Given the description of an element on the screen output the (x, y) to click on. 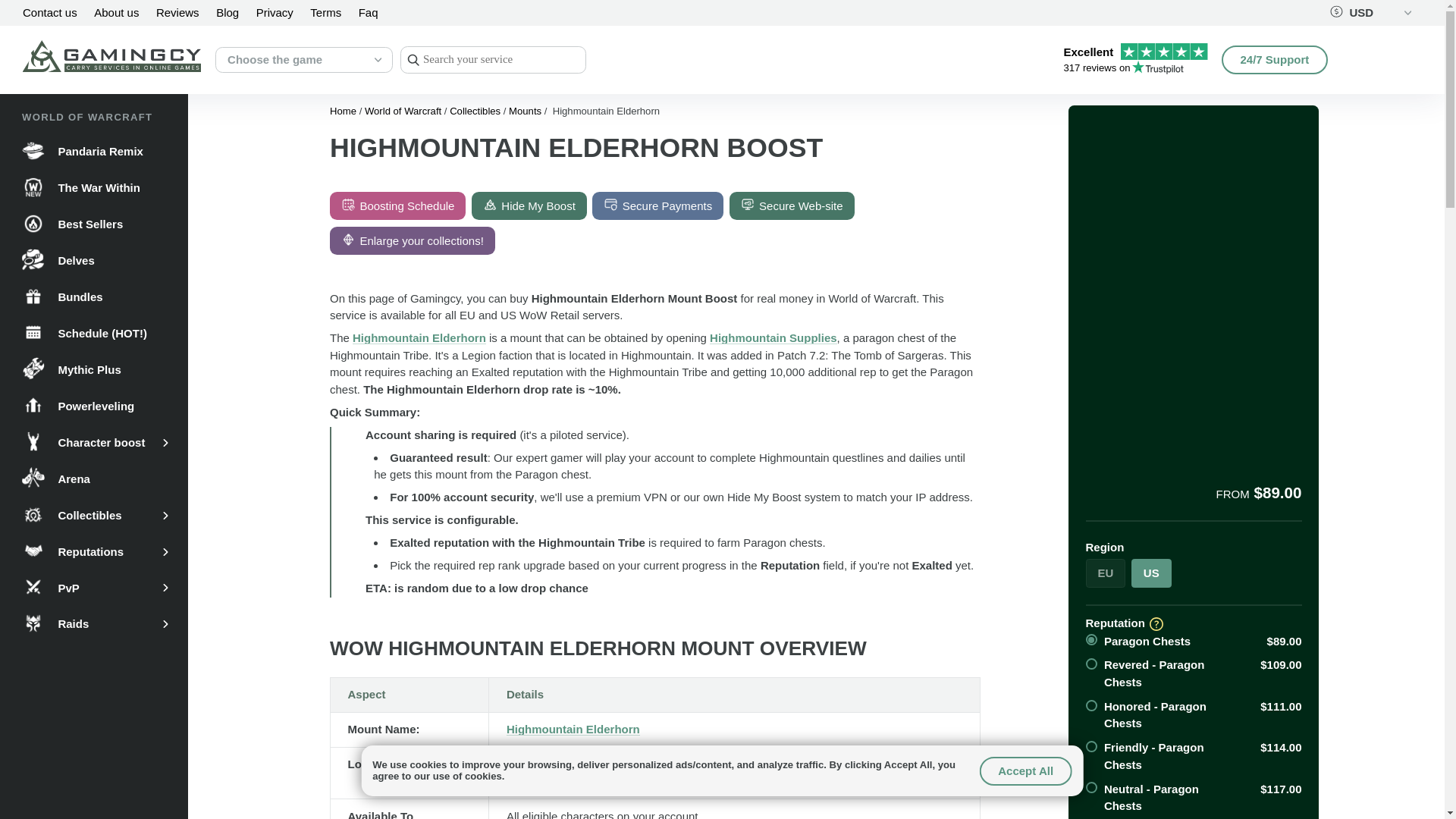
 Collectibles  (474, 111)
Highmountain Supplies (773, 337)
Faq (368, 11)
About us (116, 11)
Contact us (50, 11)
Privacy (275, 11)
 World of Warcraft  (1134, 59)
Blog (402, 111)
Highmountain Elderhorn (226, 11)
